Given the description of an element on the screen output the (x, y) to click on. 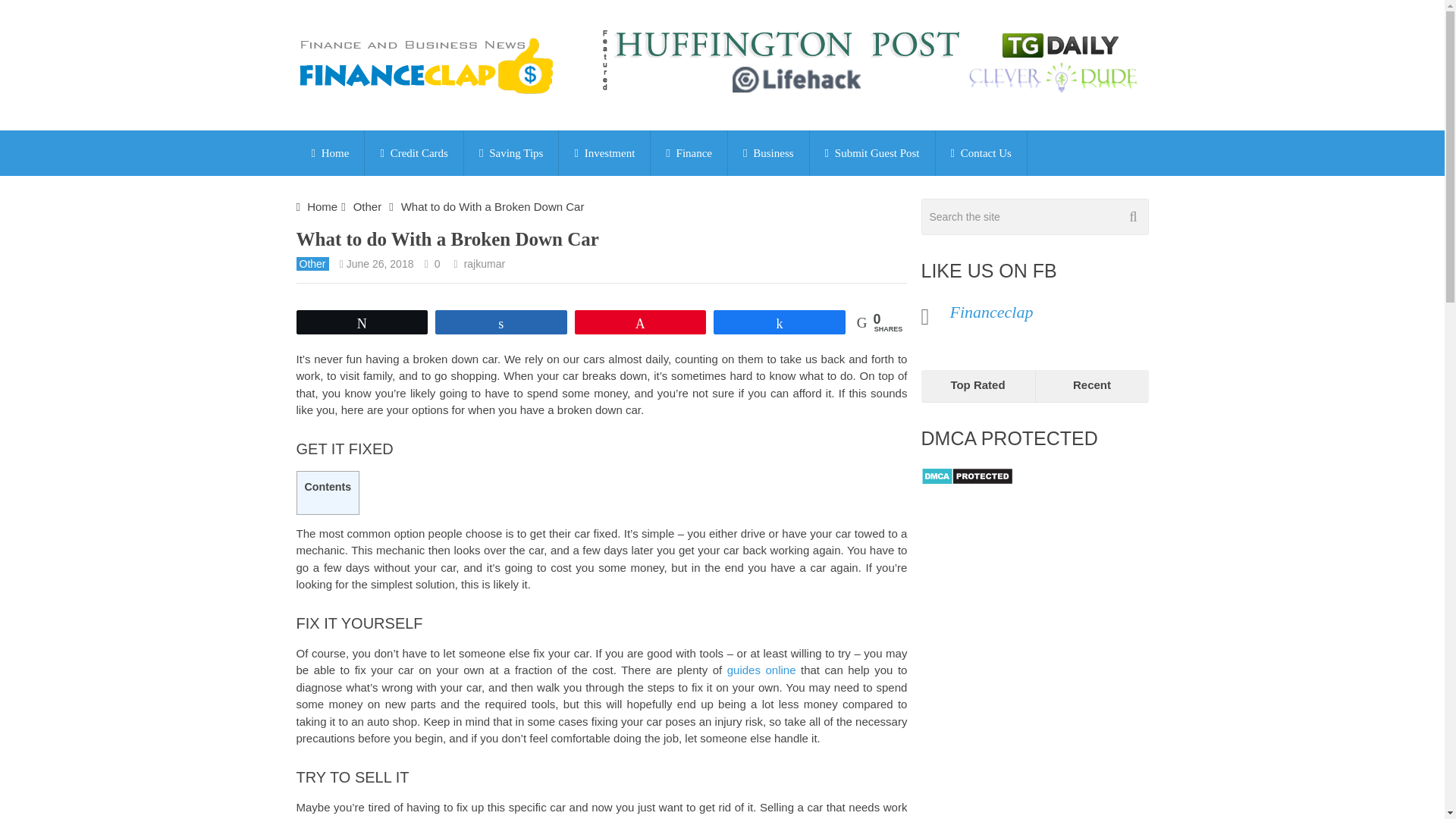
Other (367, 205)
Other (312, 264)
Finance (688, 153)
DMCA.com Protection Status (965, 481)
Posts by rajkumar (484, 264)
Submit Guest Post (871, 153)
View all posts in Other (312, 264)
Credit Cards (414, 153)
rajkumar (484, 264)
Investment (604, 153)
